Given the description of an element on the screen output the (x, y) to click on. 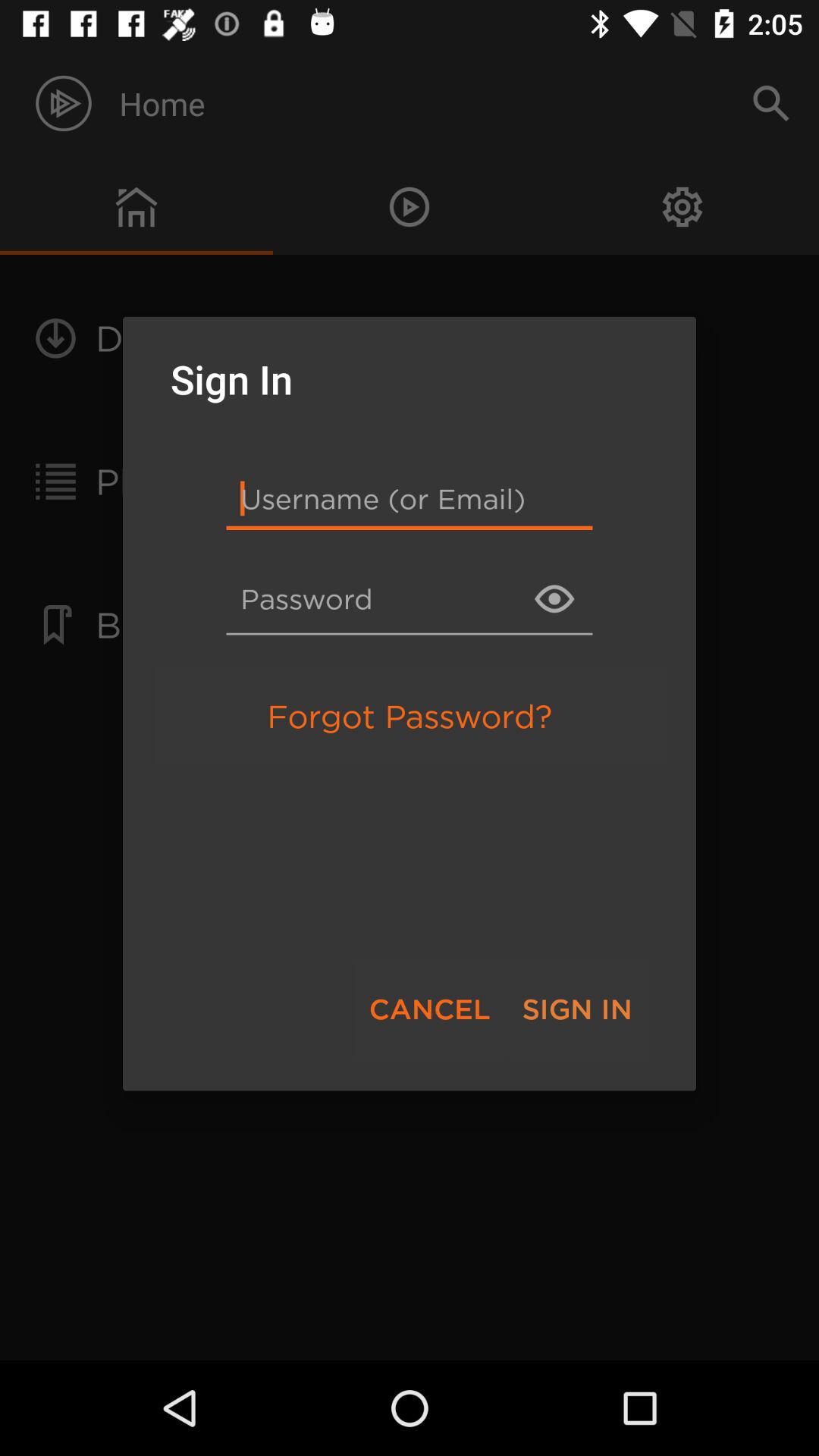
select item to the left of sign in (429, 1009)
